Given the description of an element on the screen output the (x, y) to click on. 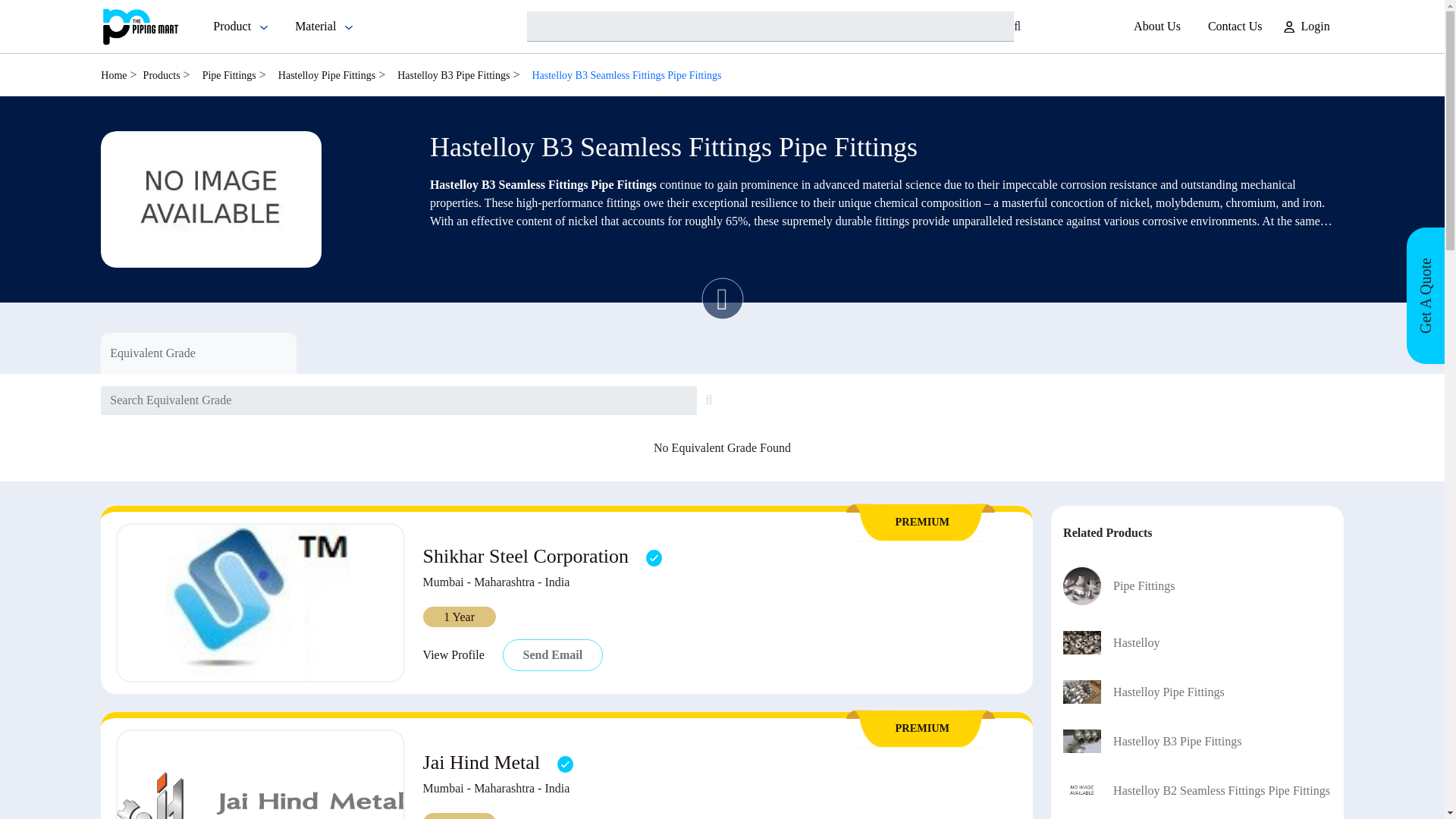
Tax ID verified. Email verified. (654, 557)
Piping Mart (140, 26)
Tax ID verified. Email verified. (565, 763)
